Given the description of an element on the screen output the (x, y) to click on. 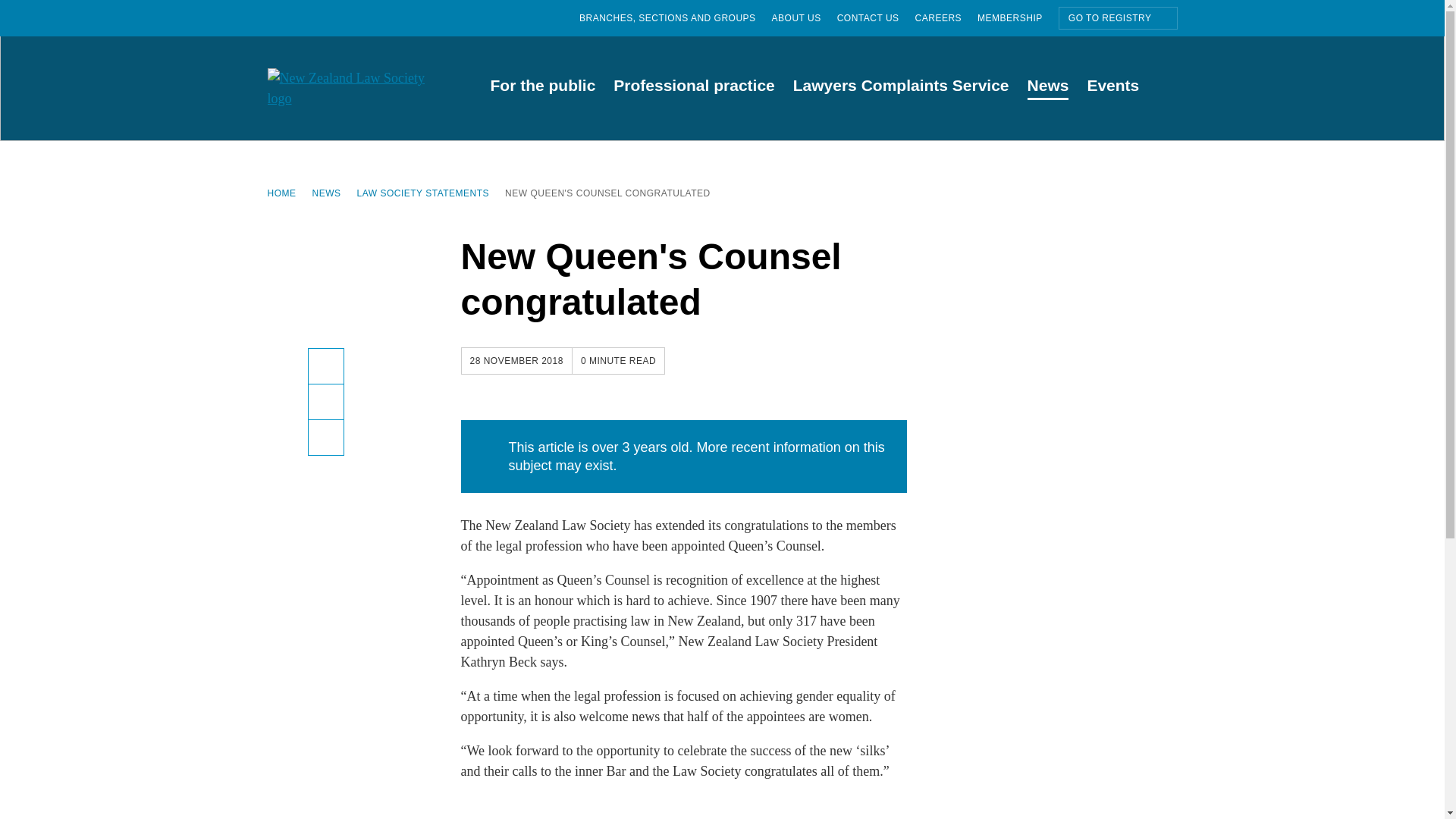
CAREERS (946, 18)
GO TO REGISTRY (1117, 17)
BRANCHES, SECTIONS AND GROUPS (675, 18)
Professional practice (693, 88)
ABOUT US (804, 18)
For the public (542, 88)
MEMBERSHIP (1017, 18)
CONTACT US (876, 18)
